Given the description of an element on the screen output the (x, y) to click on. 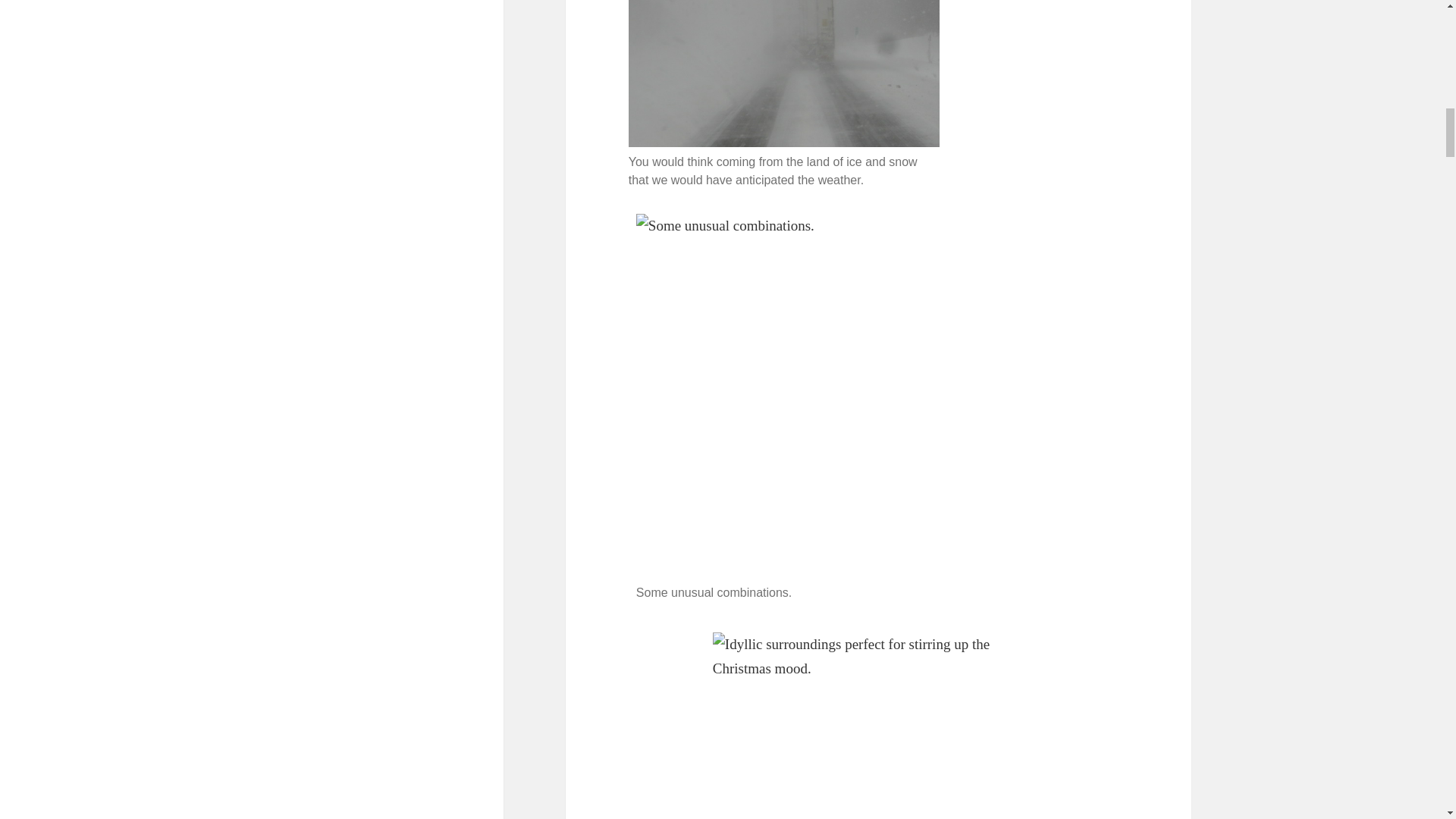
Asheville 2009 (879, 725)
Asheville 2009 (783, 74)
